Given the description of an element on the screen output the (x, y) to click on. 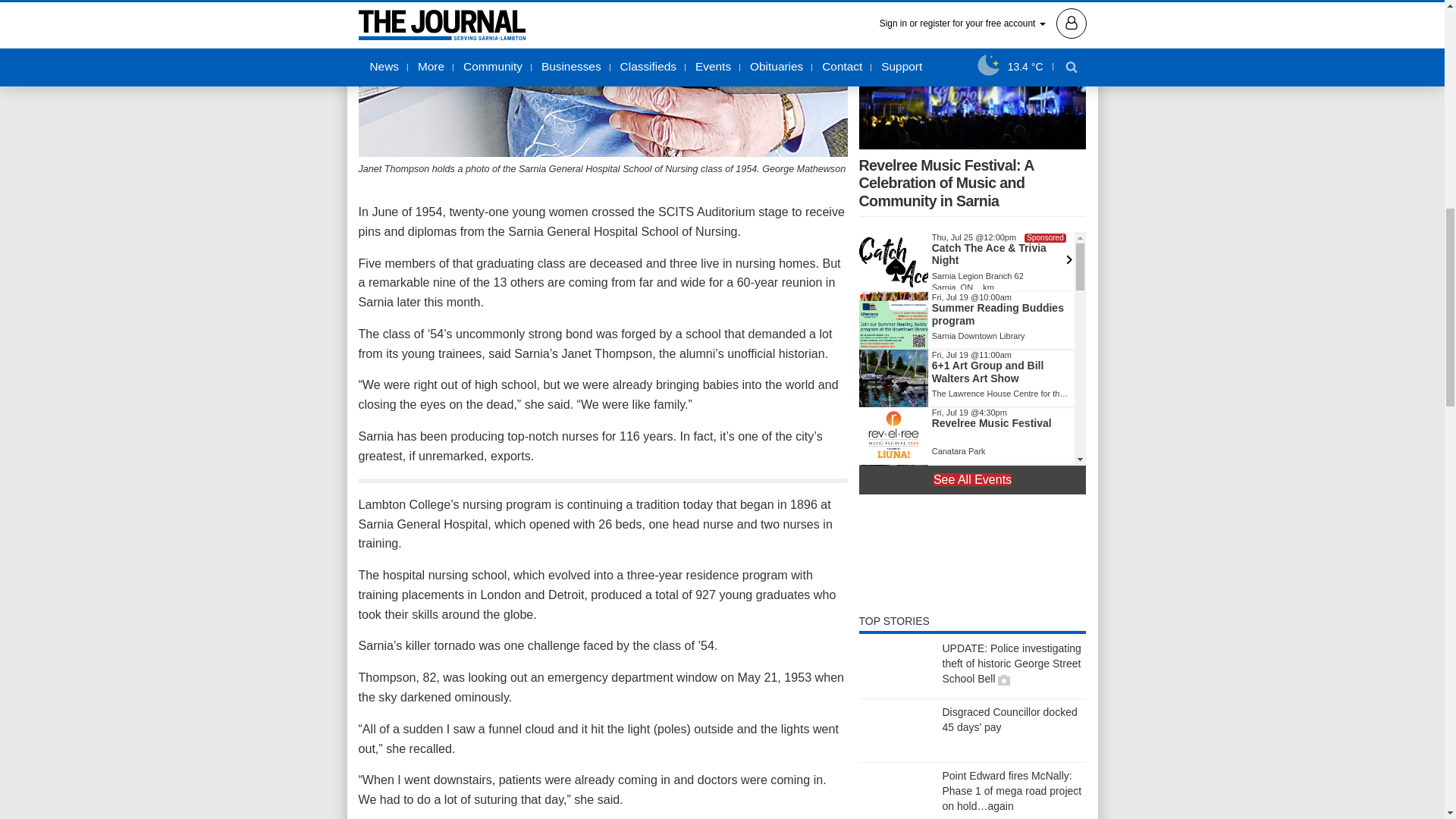
Has a gallery (1003, 679)
3rd party ad content (972, 554)
